Given the description of an element on the screen output the (x, y) to click on. 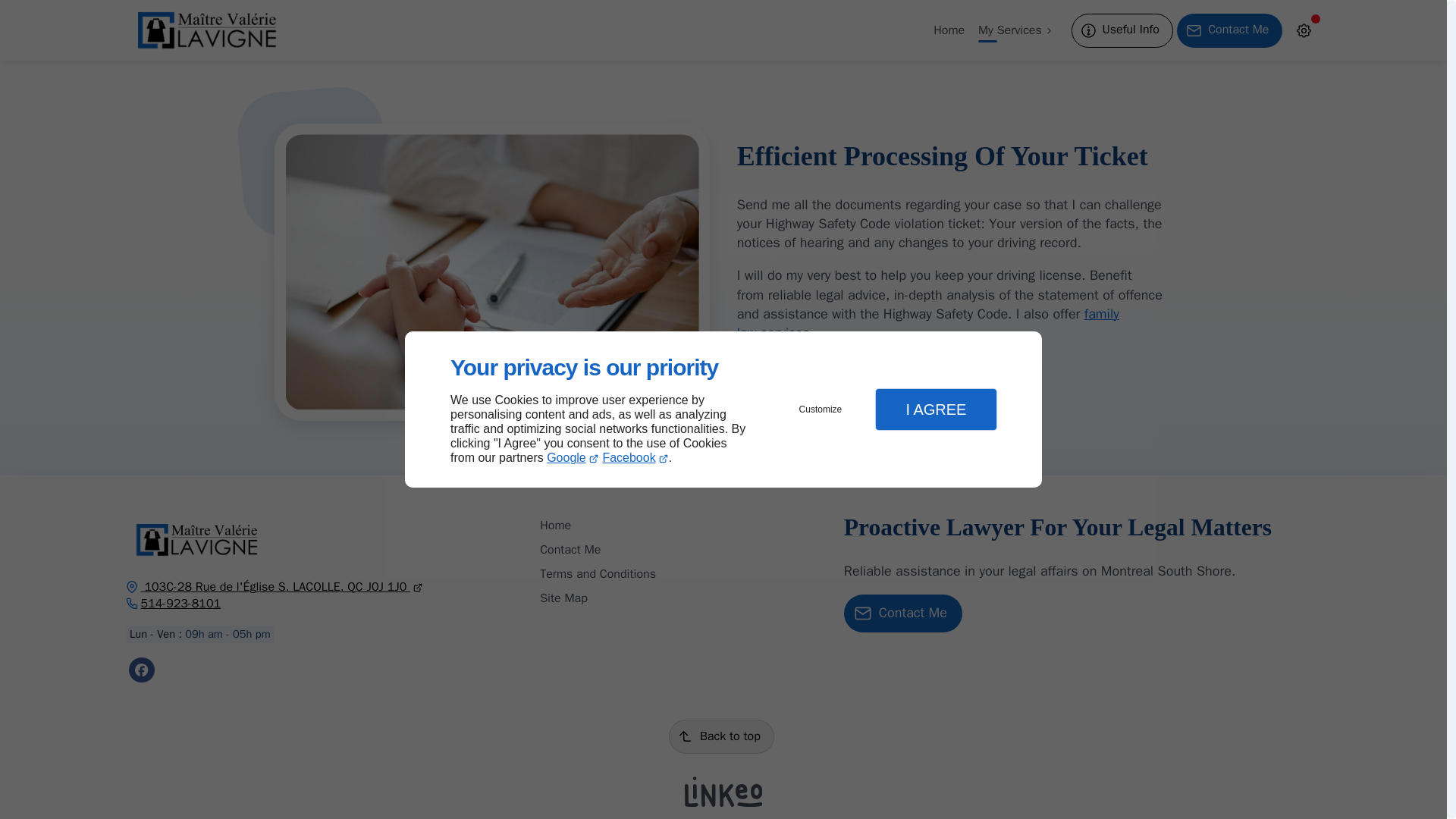
Family Law (927, 323)
514-923-8101 (173, 603)
Terms and Conditions (598, 573)
family law (927, 323)
linkeo (723, 791)
Contact Me (569, 549)
Site Map (564, 598)
Back to top (721, 736)
Home (555, 525)
Contact Me (903, 613)
